Given the description of an element on the screen output the (x, y) to click on. 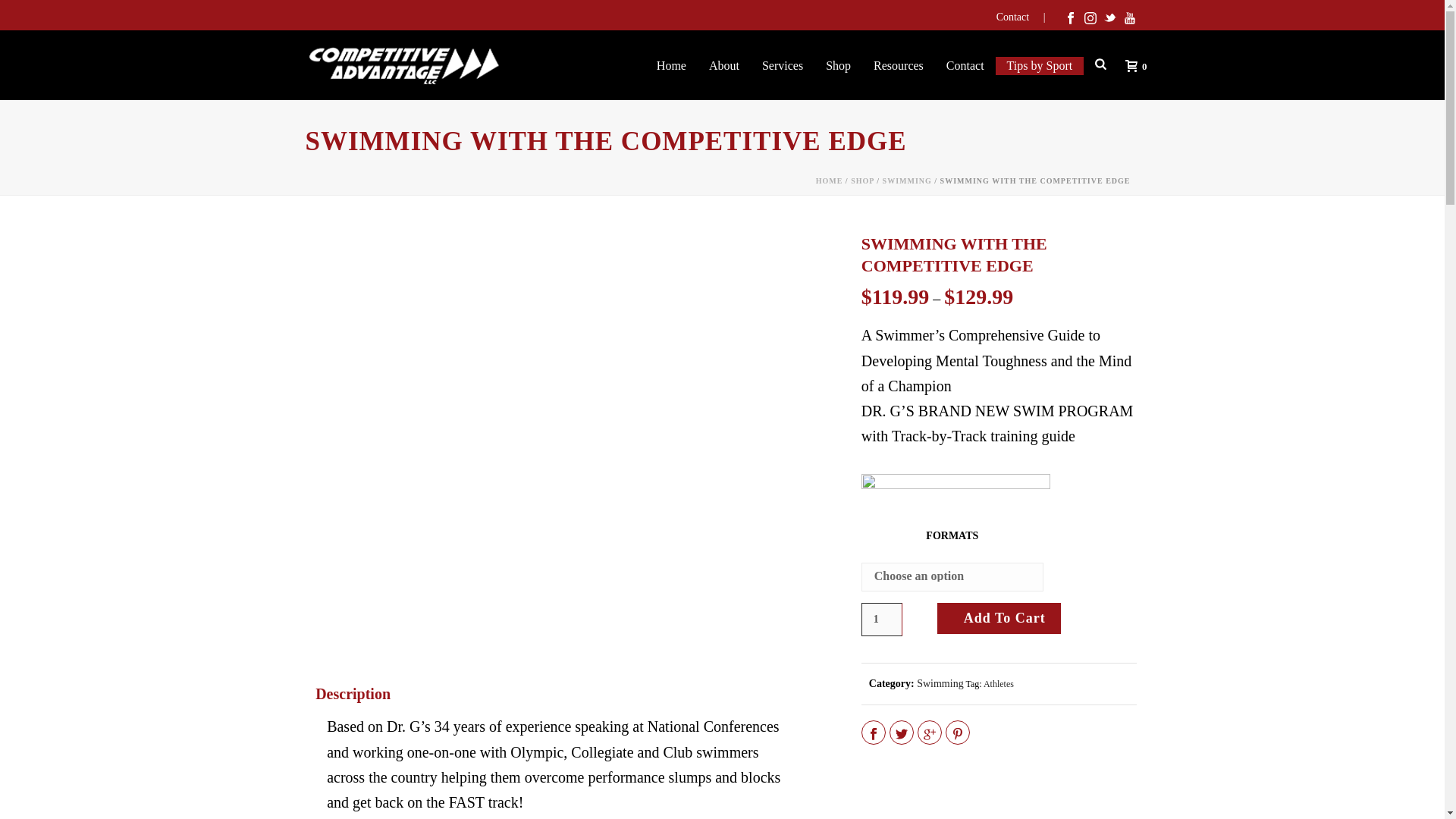
Tips by Sport (1039, 65)
Services (782, 65)
Resources (897, 65)
About (724, 65)
About (724, 65)
Shop (837, 65)
Contact (1026, 17)
Contact (964, 65)
Home (671, 65)
Shop (837, 65)
1 (881, 618)
Services (782, 65)
Home (671, 65)
